Given the description of an element on the screen output the (x, y) to click on. 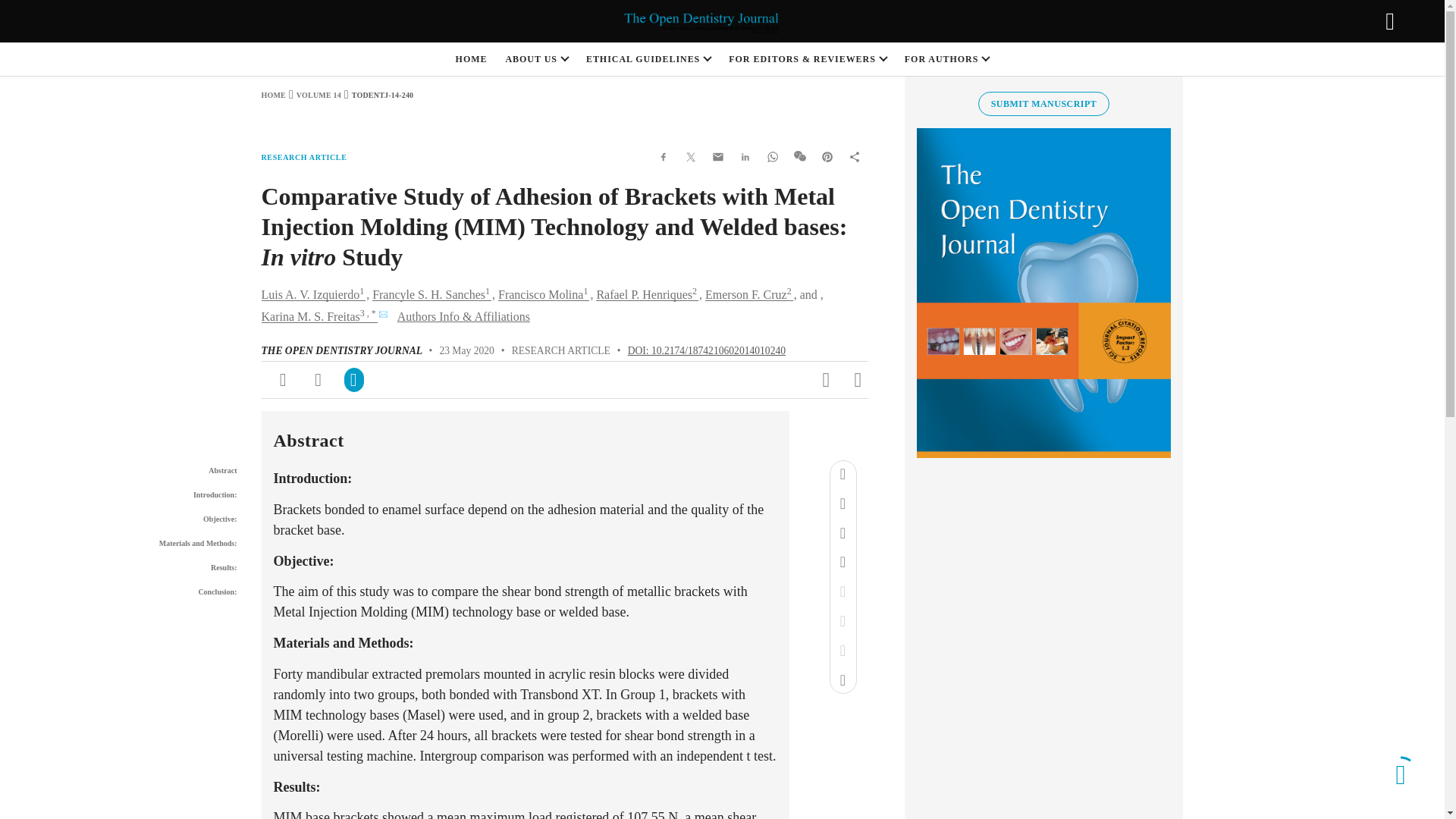
Home (272, 94)
Back to top1 (1400, 774)
Search (1389, 21)
